Given the description of an element on the screen output the (x, y) to click on. 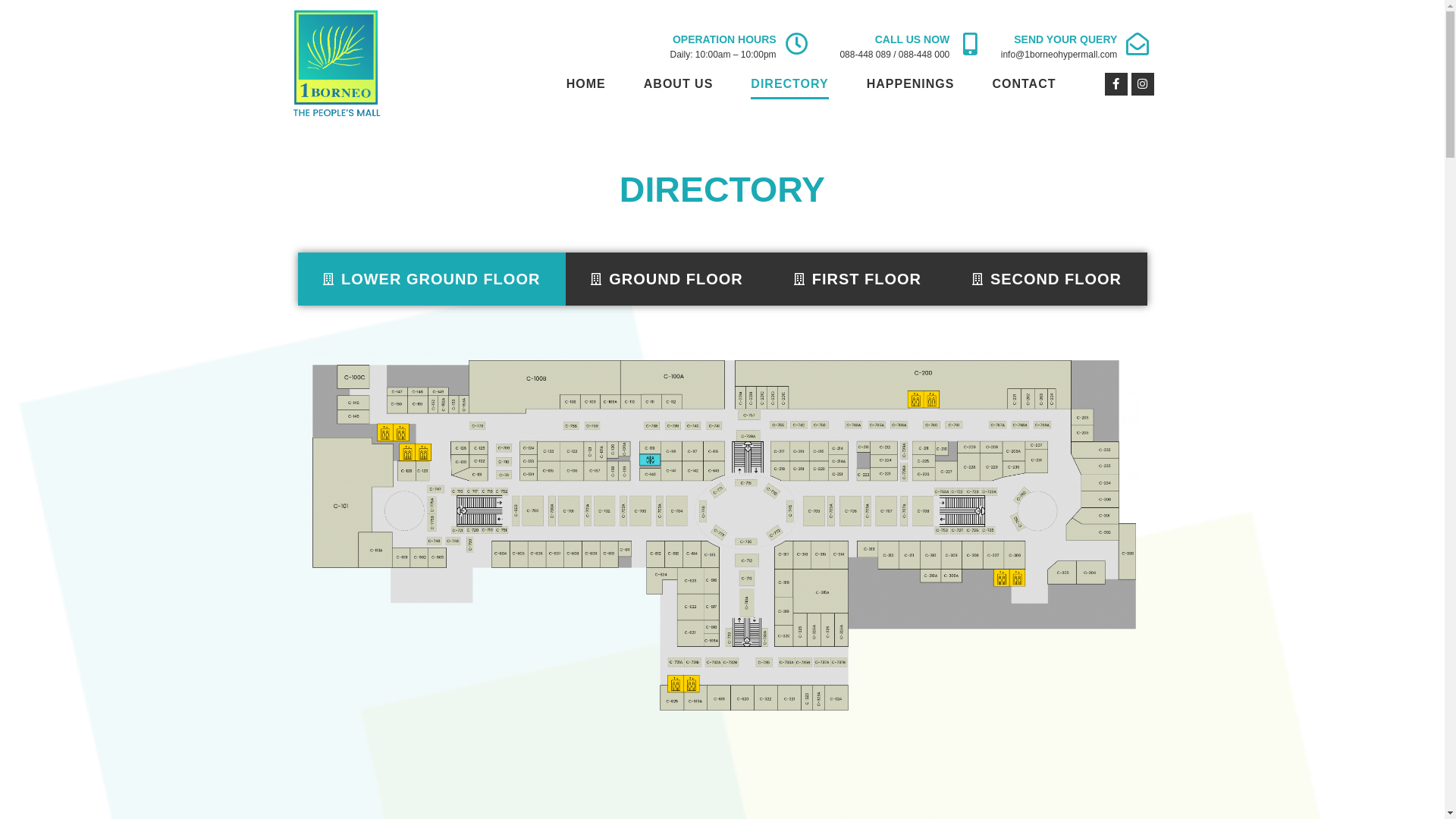
CONTACT Element type: text (1023, 84)
SEND YOUR QUERY Element type: text (1065, 39)
HAPPENINGS Element type: text (910, 84)
HOME Element type: text (585, 84)
DIRECTORY Element type: text (789, 84)
CALL US NOW Element type: text (912, 39)
ABOUT US Element type: text (678, 84)
